Given the description of an element on the screen output the (x, y) to click on. 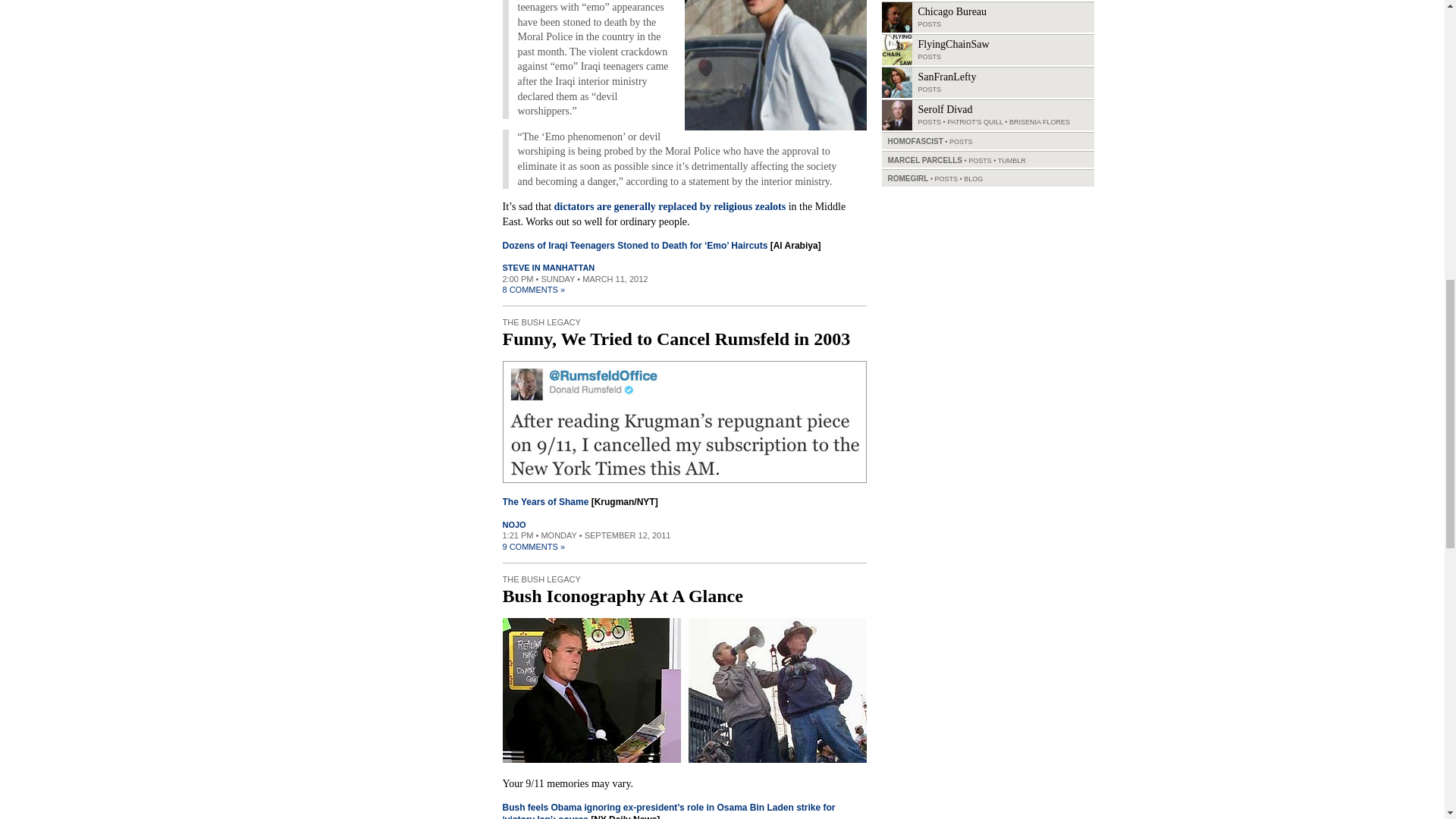
dictators are generally replaced by religious zealots (670, 206)
One of these photos was three days later. (684, 690)
THE BUSH LEGACY (540, 321)
The Years of Shame (545, 501)
Posts by Steve in Manhattan (548, 266)
Funny, We Tried to Cancel Rumsfeld in 2003 (676, 338)
Posts by nojo (513, 524)
STEVE IN MANHATTAN (548, 266)
Bush Iconography At A Glance (622, 596)
THE BUSH LEGACY (540, 578)
